Given the description of an element on the screen output the (x, y) to click on. 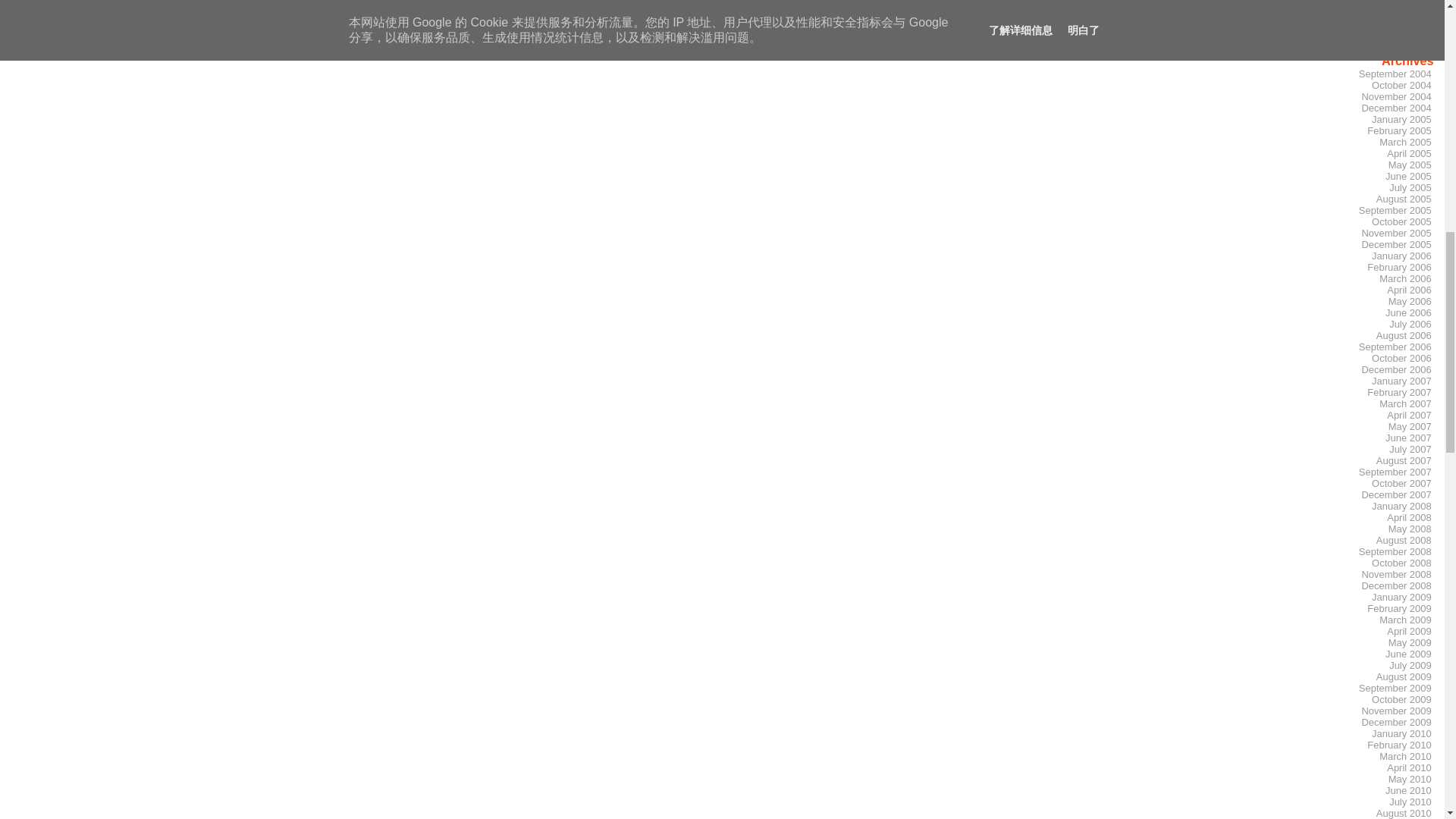
April 2005 (1409, 153)
August 2006 (1403, 335)
September 2004 (717, 22)
June 2006 (1394, 73)
July 2006 (1408, 312)
November 2005 (1409, 323)
October 2006 (1395, 233)
June 2005 (1401, 358)
September 2005 (1408, 175)
May 2005 (1394, 210)
March 2005 (1409, 164)
July 2005 (1404, 142)
October 2004 (1409, 187)
December 2005 (1401, 84)
